Given the description of an element on the screen output the (x, y) to click on. 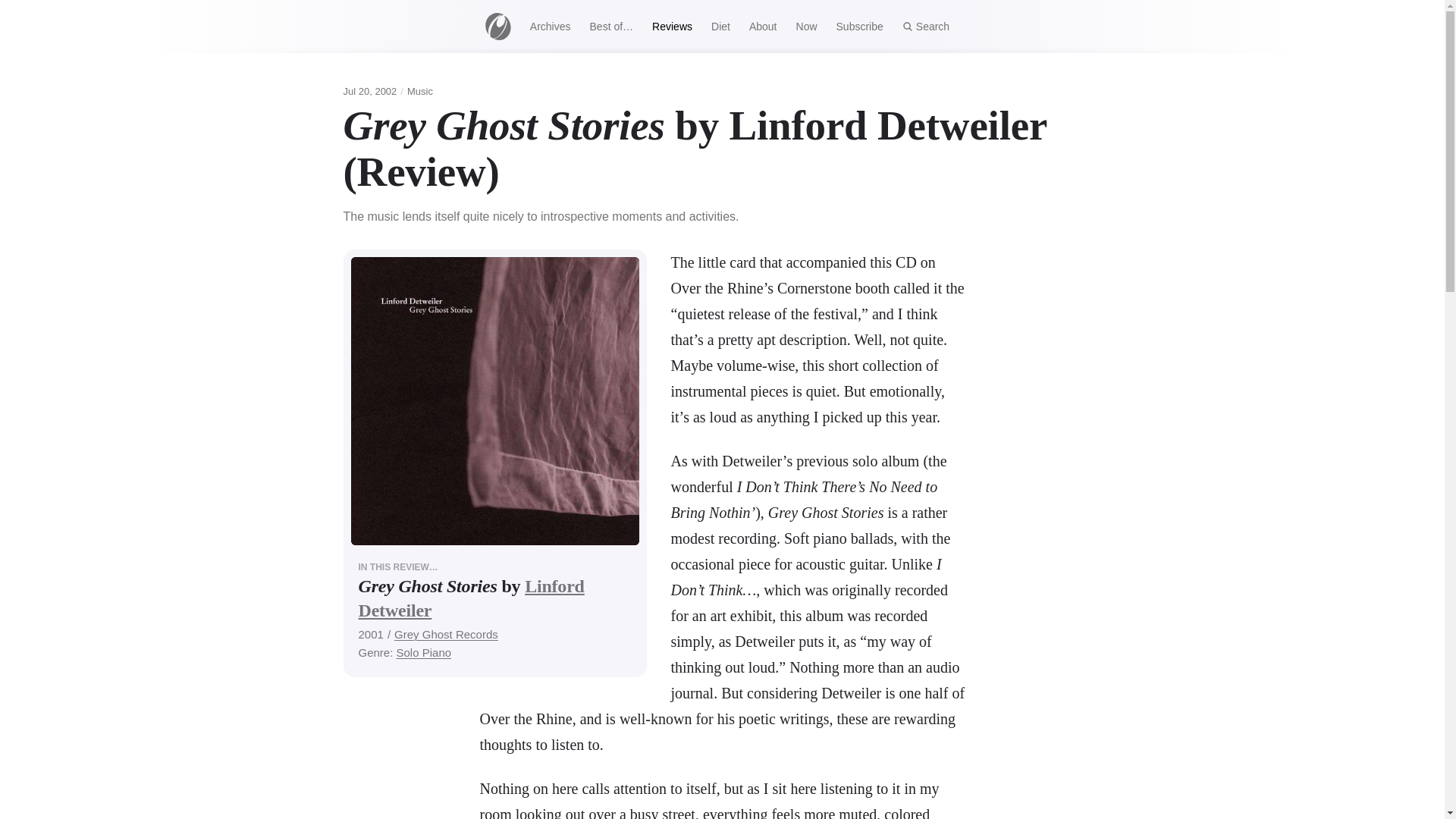
Search (925, 26)
Solo Piano (423, 652)
Now (806, 26)
Jul 20, 2002 (369, 91)
Subscribe (859, 26)
Return to the Opus homepage (497, 26)
Diet (720, 26)
Linford Detweiler (470, 597)
Music (419, 91)
Archives (549, 26)
